Given the description of an element on the screen output the (x, y) to click on. 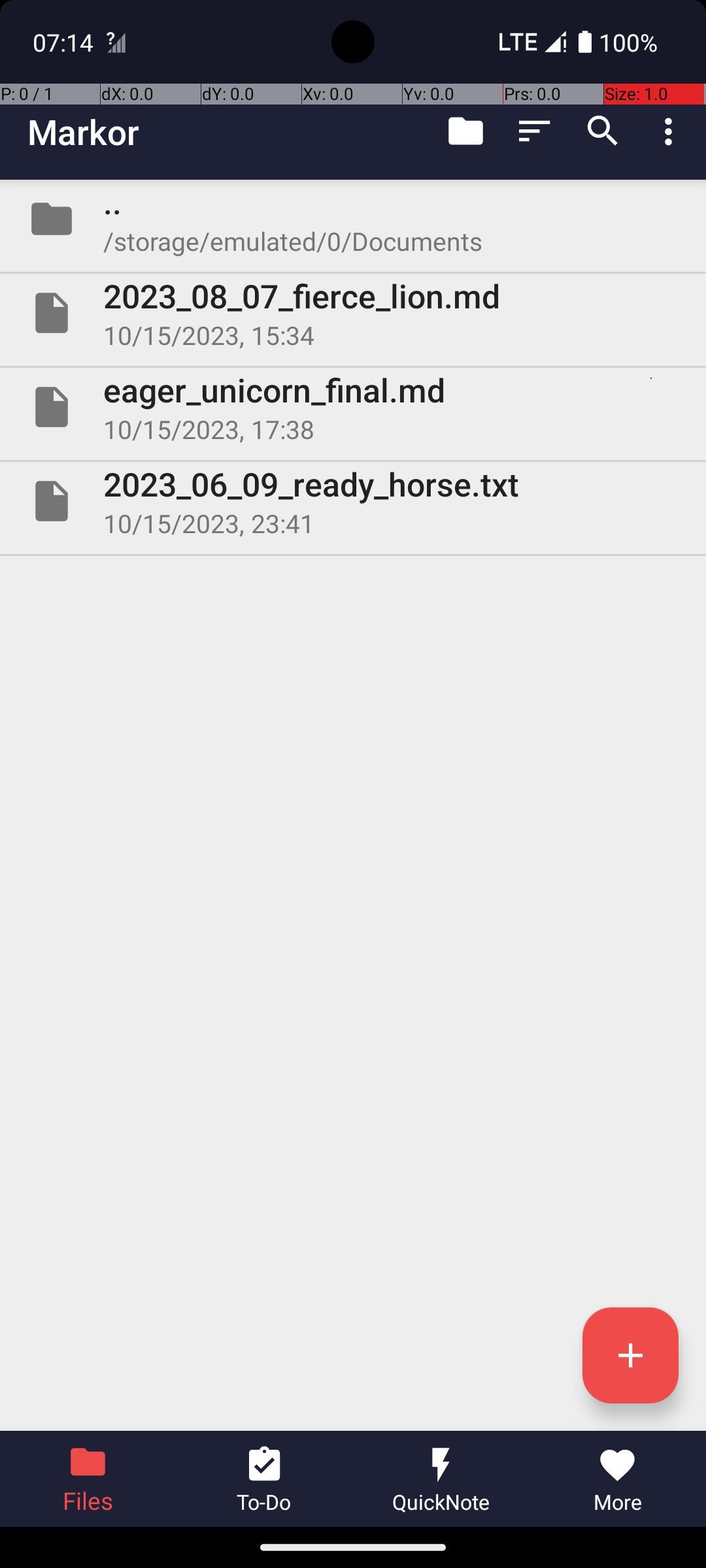
File 2023_08_07_fierce_lion.md 10/15/2023, 23:41 Element type: android.widget.LinearLayout (353, 312)
File eager_unicorn_final.md 10/15/2023, 15:34 Element type: android.widget.LinearLayout (353, 406)
File 2023_06_09_ready_horse.txt 10/15/2023, 17:38 Element type: android.widget.LinearLayout (353, 500)
07:14 Element type: android.widget.TextView (64, 41)
